Given the description of an element on the screen output the (x, y) to click on. 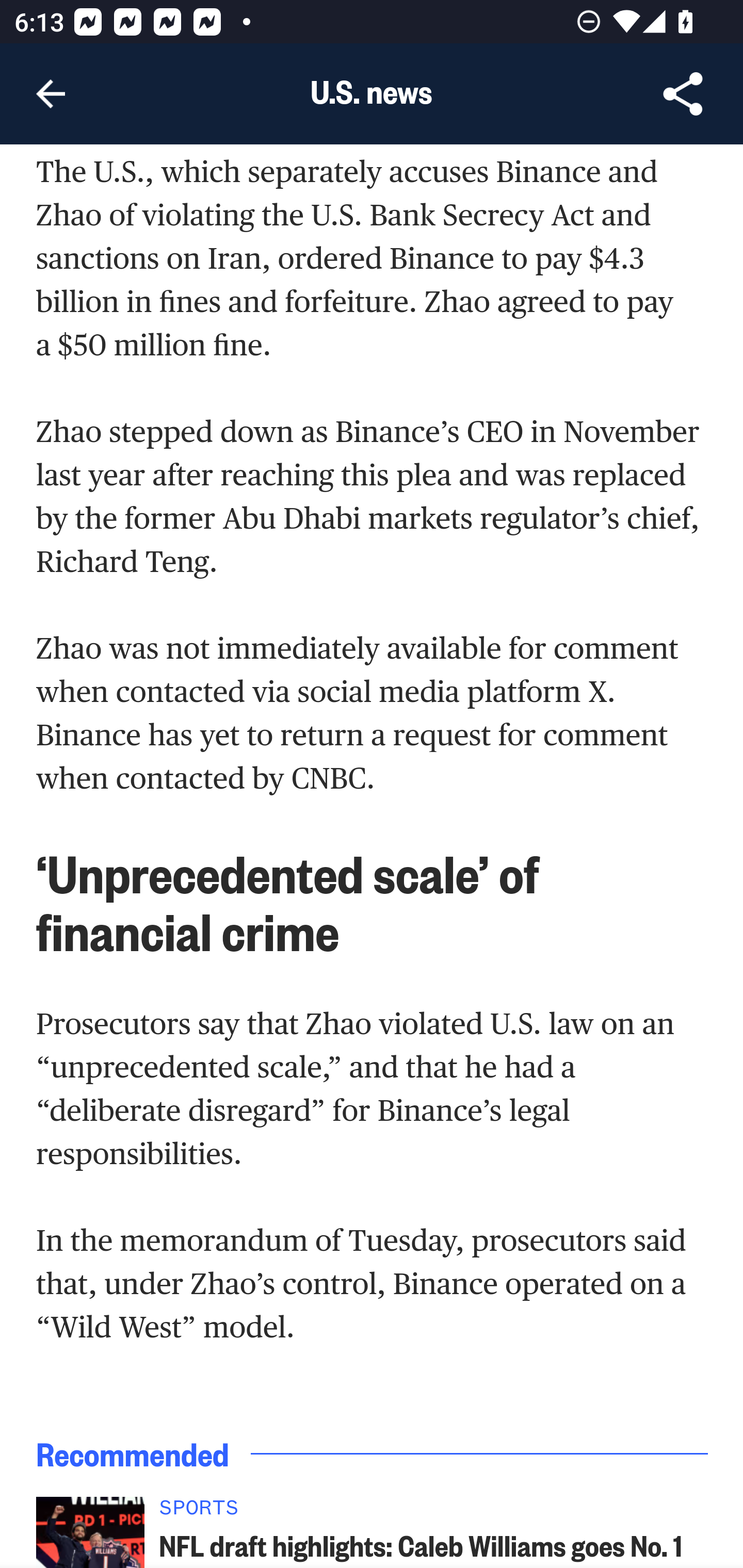
Navigate up (50, 93)
Share Article, button (683, 94)
SPORTS (434, 1512)
nfl-draft-2024-live-updates-rcna148996 (90, 1531)
